Given the description of an element on the screen output the (x, y) to click on. 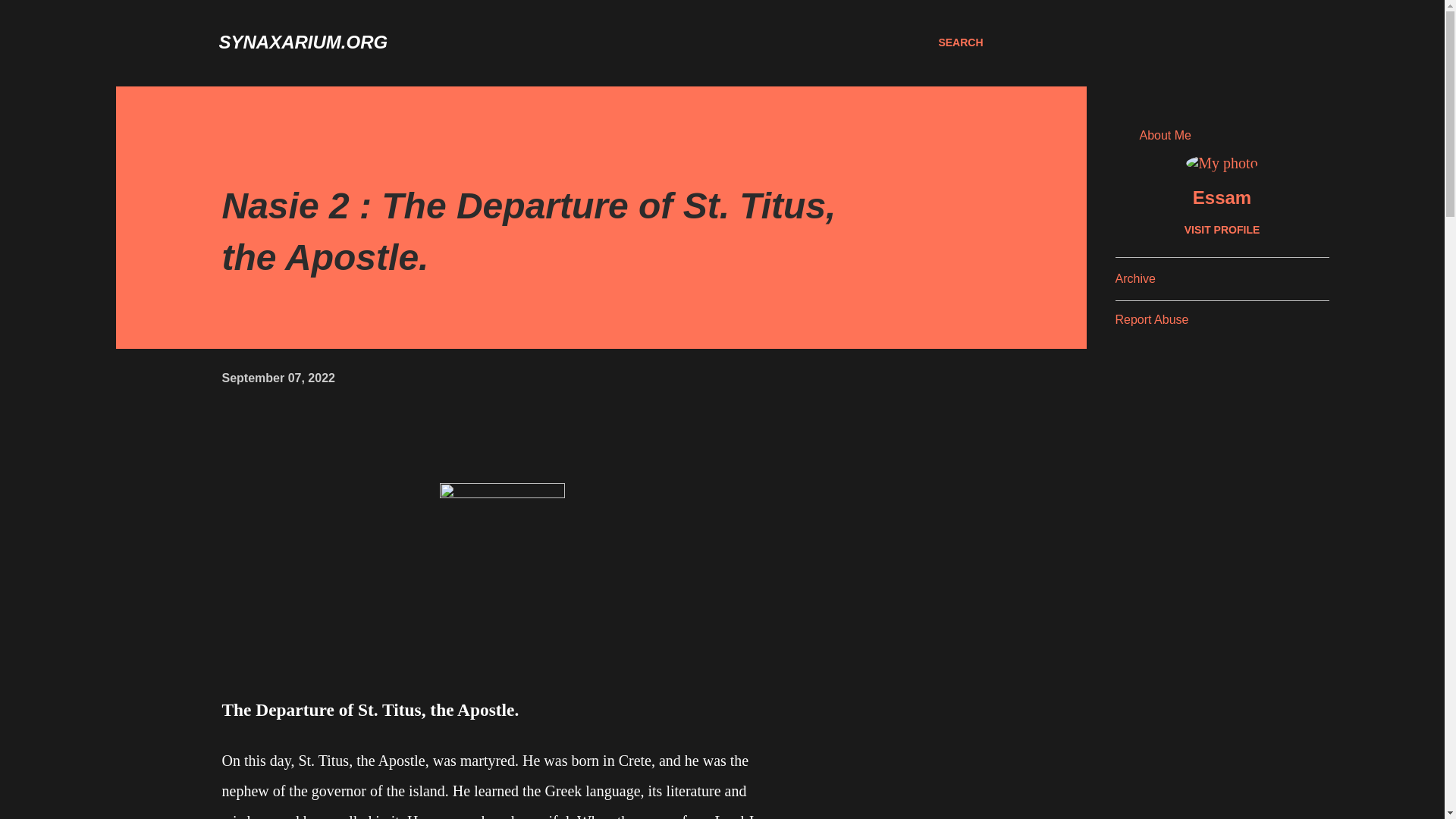
SEARCH (959, 42)
SYNAXARIUM.ORG (302, 41)
September 07, 2022 (277, 377)
Essam (1221, 197)
permanent link (277, 377)
